Given the description of an element on the screen output the (x, y) to click on. 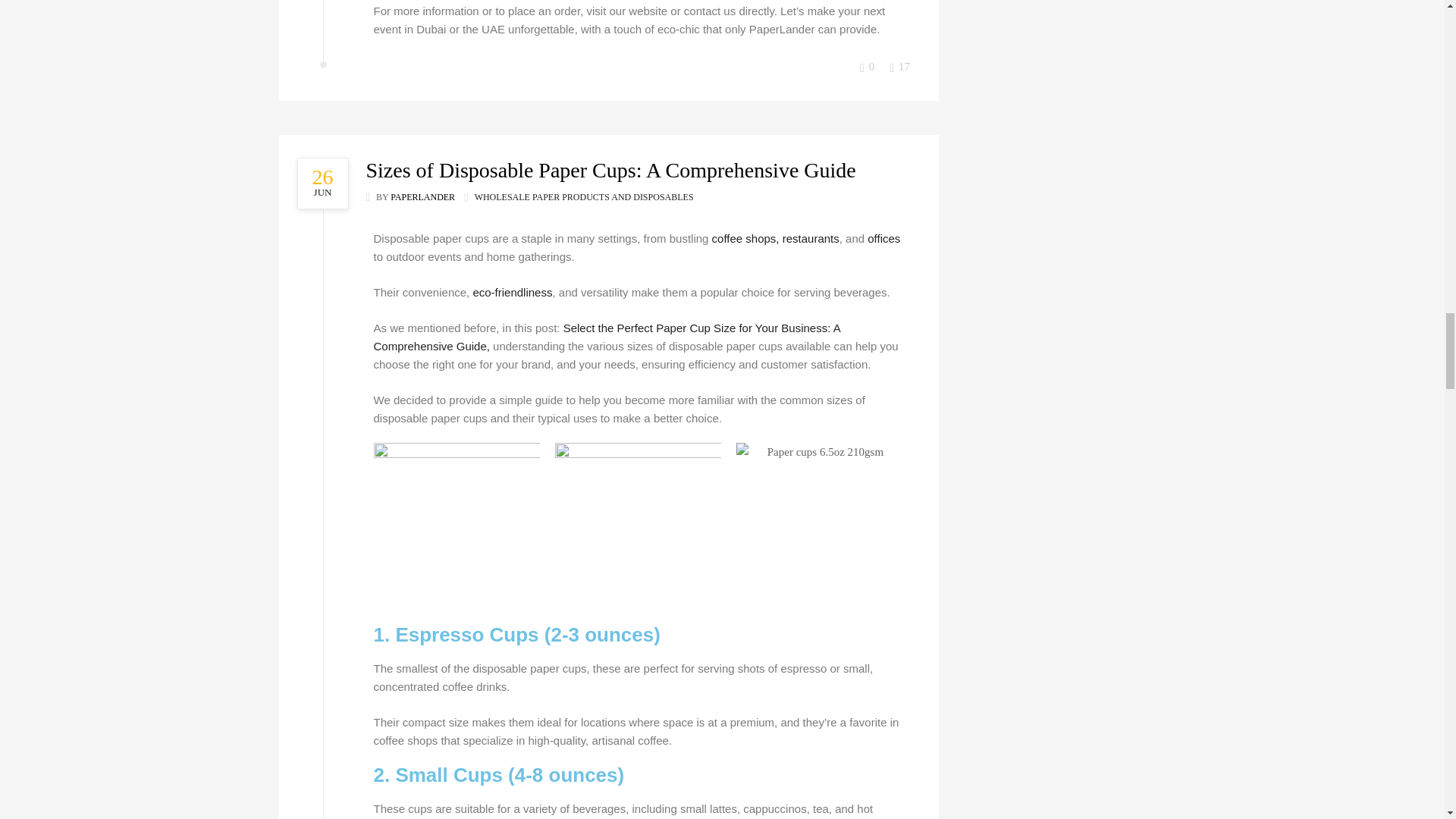
Click here to read more (326, 183)
View all posts by paperlander (422, 196)
